Given the description of an element on the screen output the (x, y) to click on. 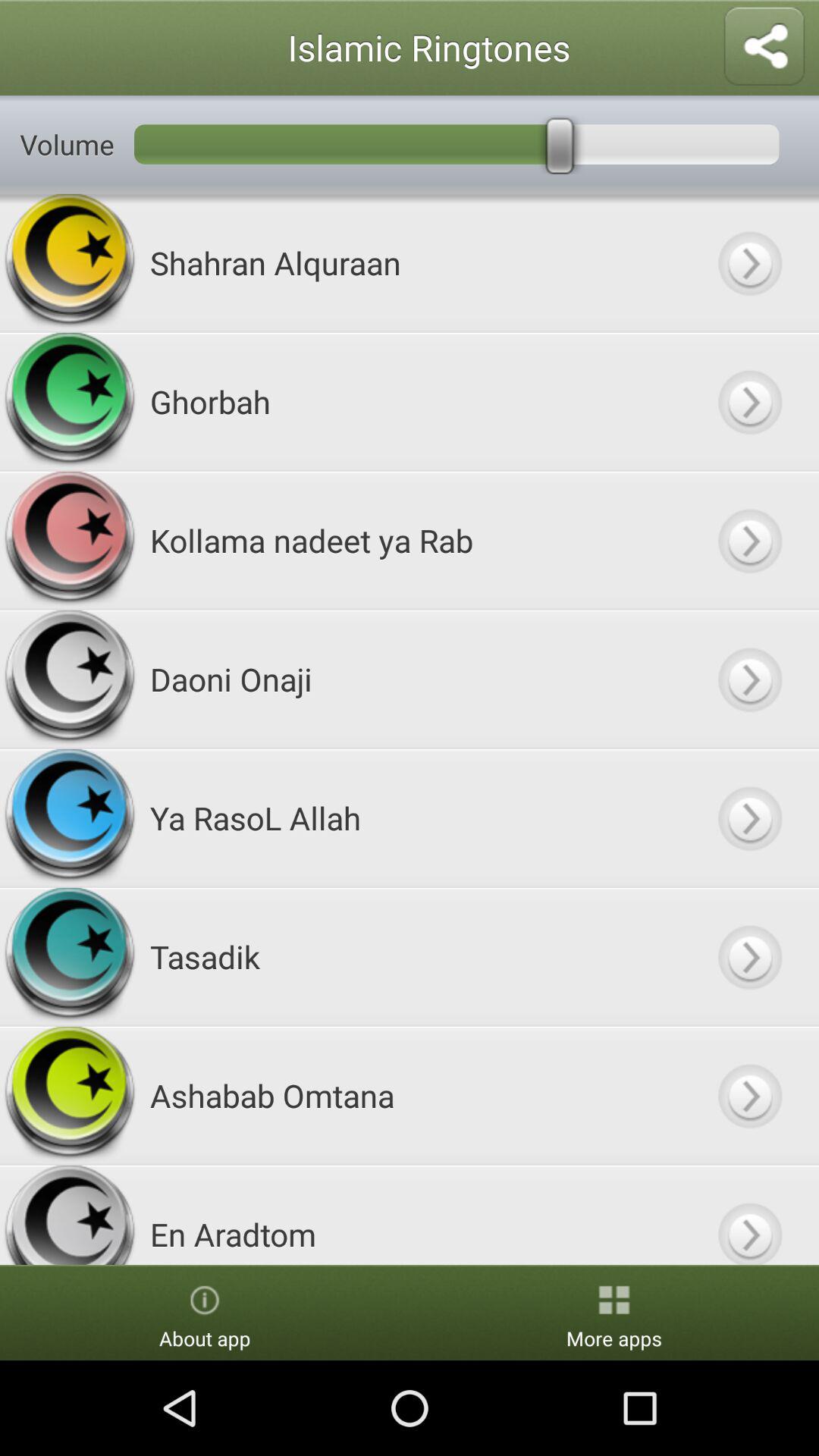
islamic ringtones (749, 1214)
